Given the description of an element on the screen output the (x, y) to click on. 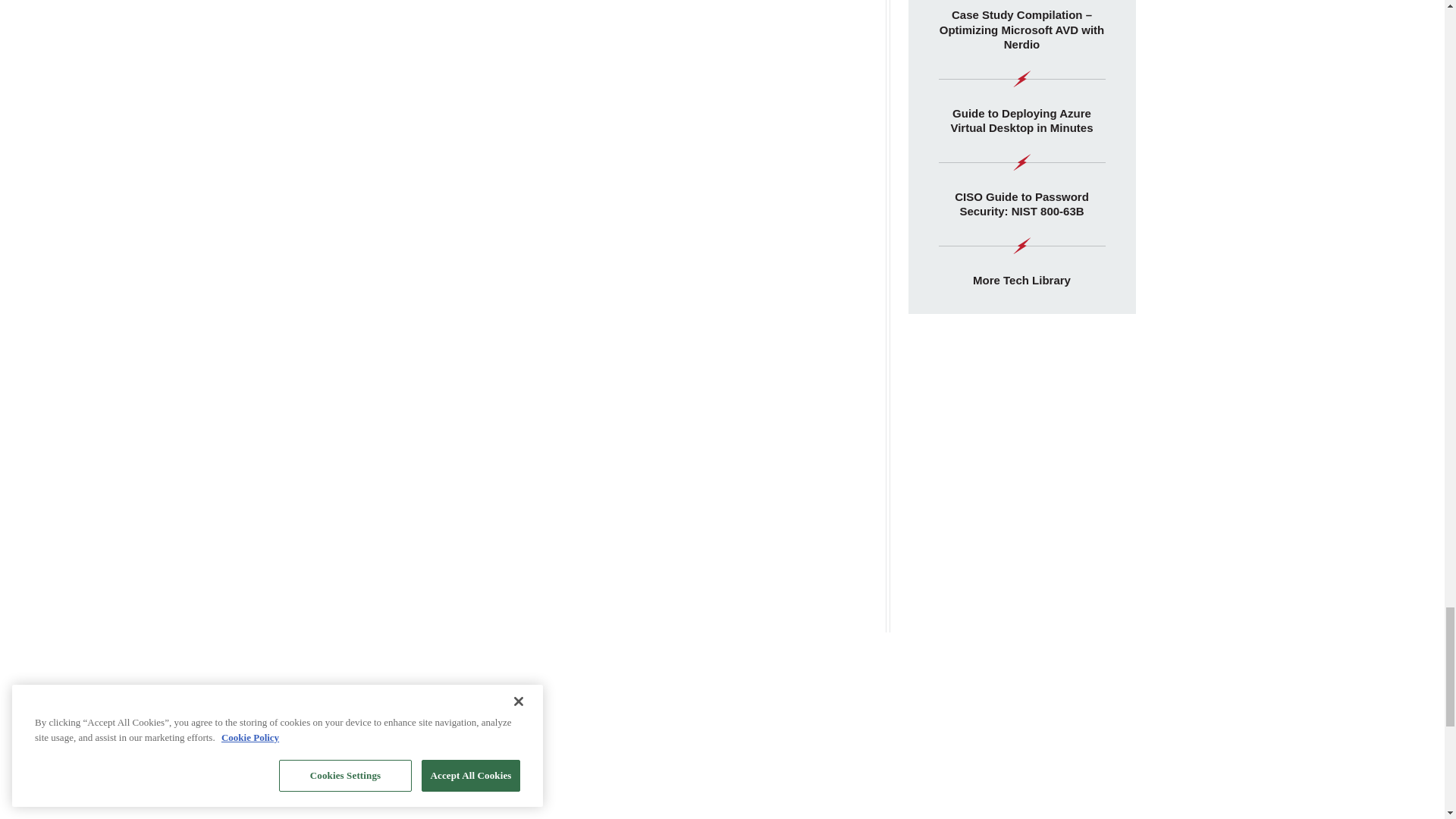
3rd party ad content (722, 801)
3rd party ad content (1021, 643)
3rd party ad content (1021, 431)
